Given the description of an element on the screen output the (x, y) to click on. 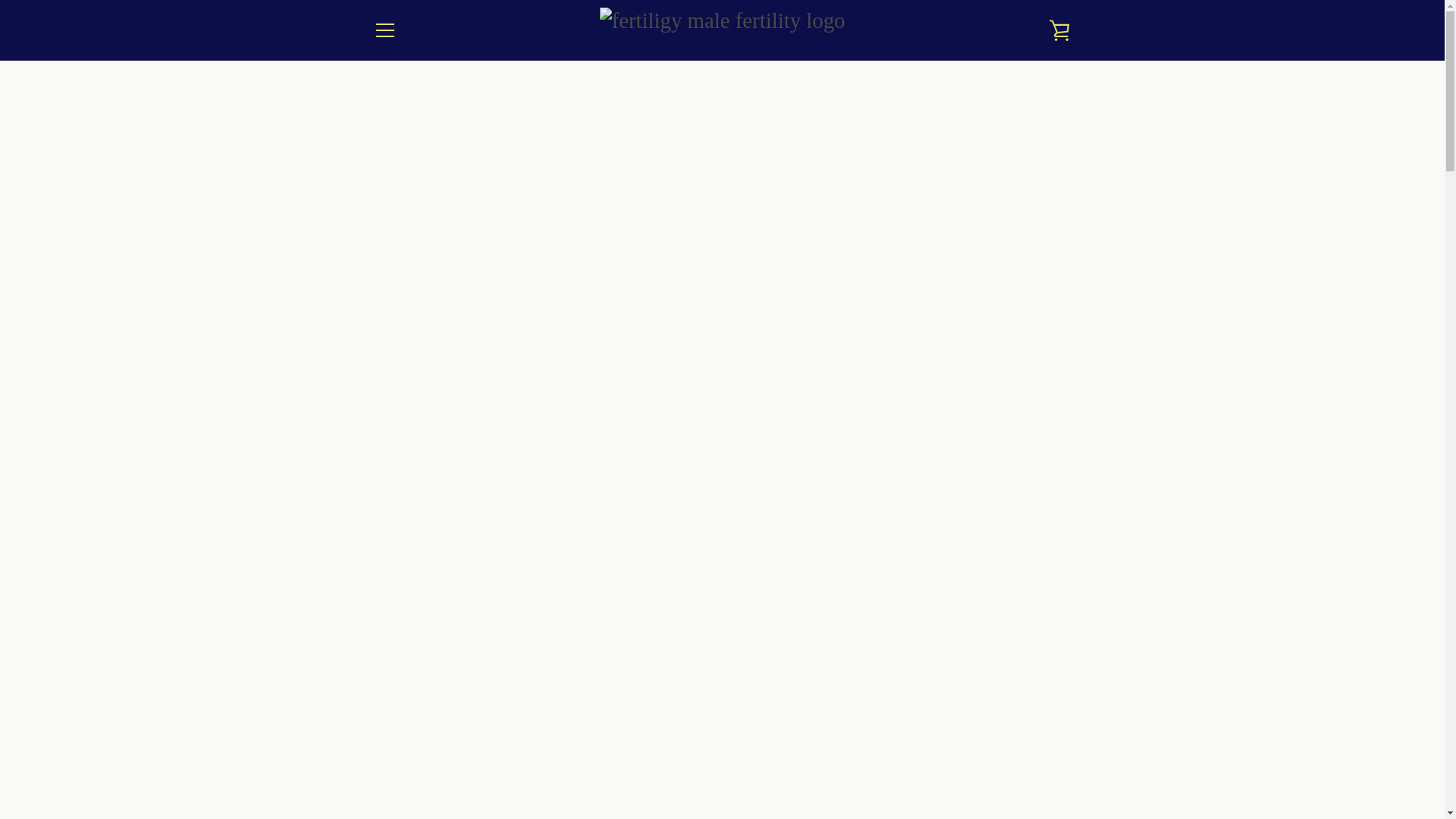
MENU (384, 30)
VIEW CART (1059, 30)
